Given the description of an element on the screen output the (x, y) to click on. 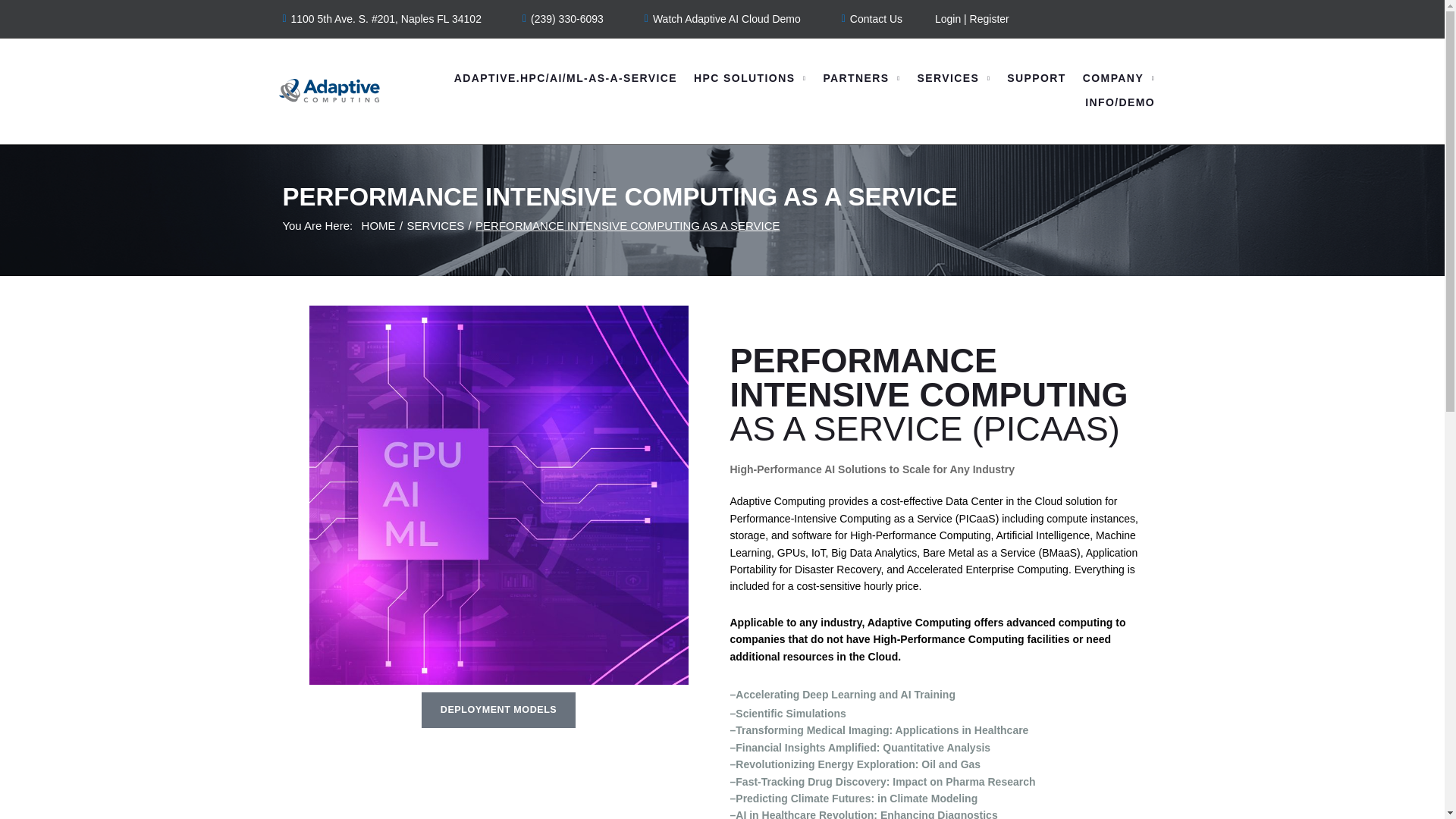
Login (947, 19)
Contact Us (876, 19)
SERVICES (954, 78)
PARTNERS (860, 78)
Watch Adaptive AI Cloud Demo (726, 19)
HPC SOLUTIONS (750, 78)
Register (989, 19)
Home (378, 225)
Services (435, 225)
